Given the description of an element on the screen output the (x, y) to click on. 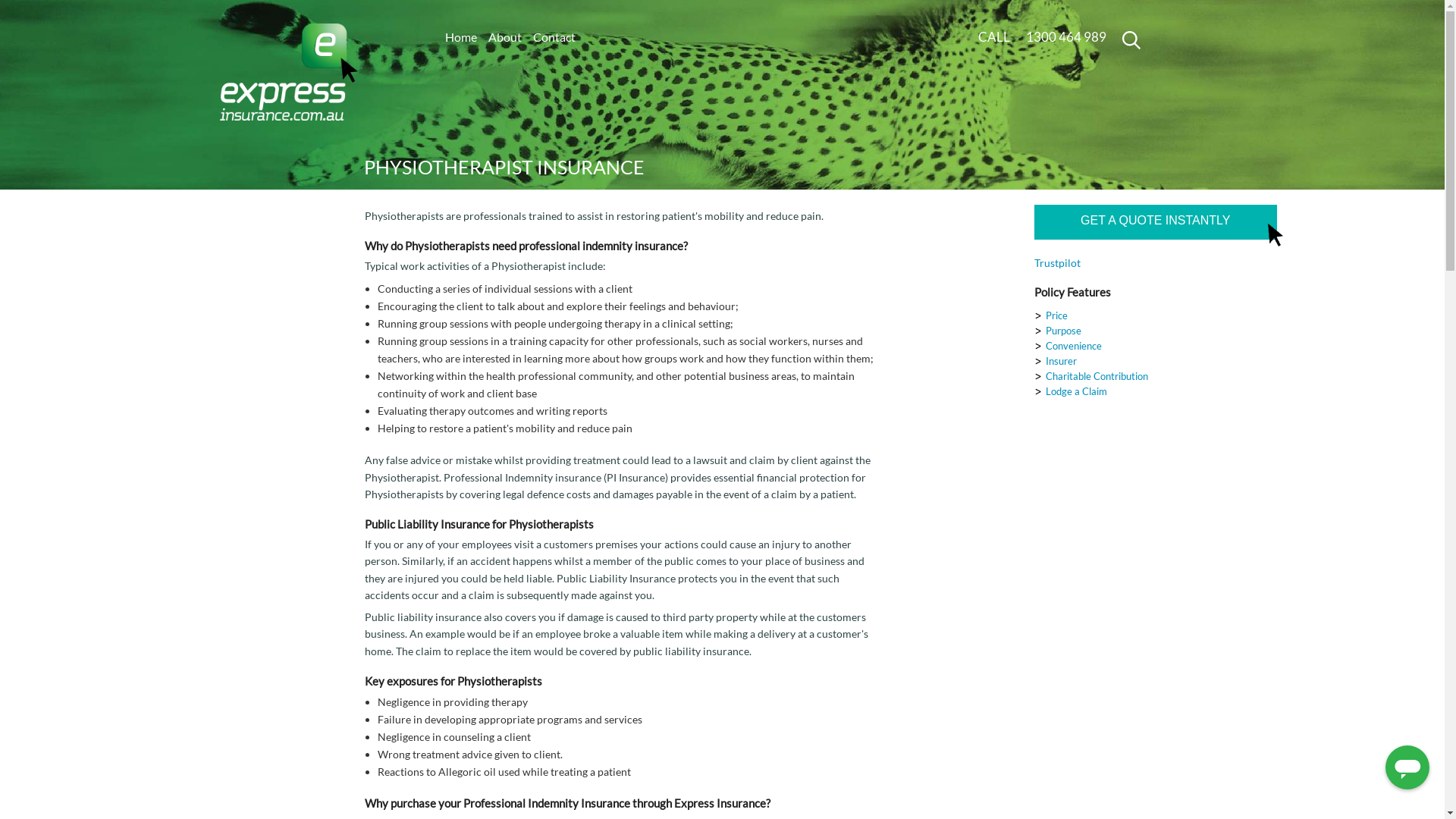
Purpose Element type: text (1063, 330)
GET A QUOTE INSTANTLY Element type: text (1155, 221)
1300 464 989 Element type: text (1066, 36)
Price Element type: text (1056, 315)
Insurer Element type: text (1060, 361)
Contact Element type: text (553, 37)
Convenience Element type: text (1073, 345)
Lodge a Claim Element type: text (1076, 391)
Home Element type: text (460, 37)
About Element type: text (504, 37)
Charitable Contribution Element type: text (1096, 376)
Trustpilot Element type: text (1057, 262)
